Given the description of an element on the screen output the (x, y) to click on. 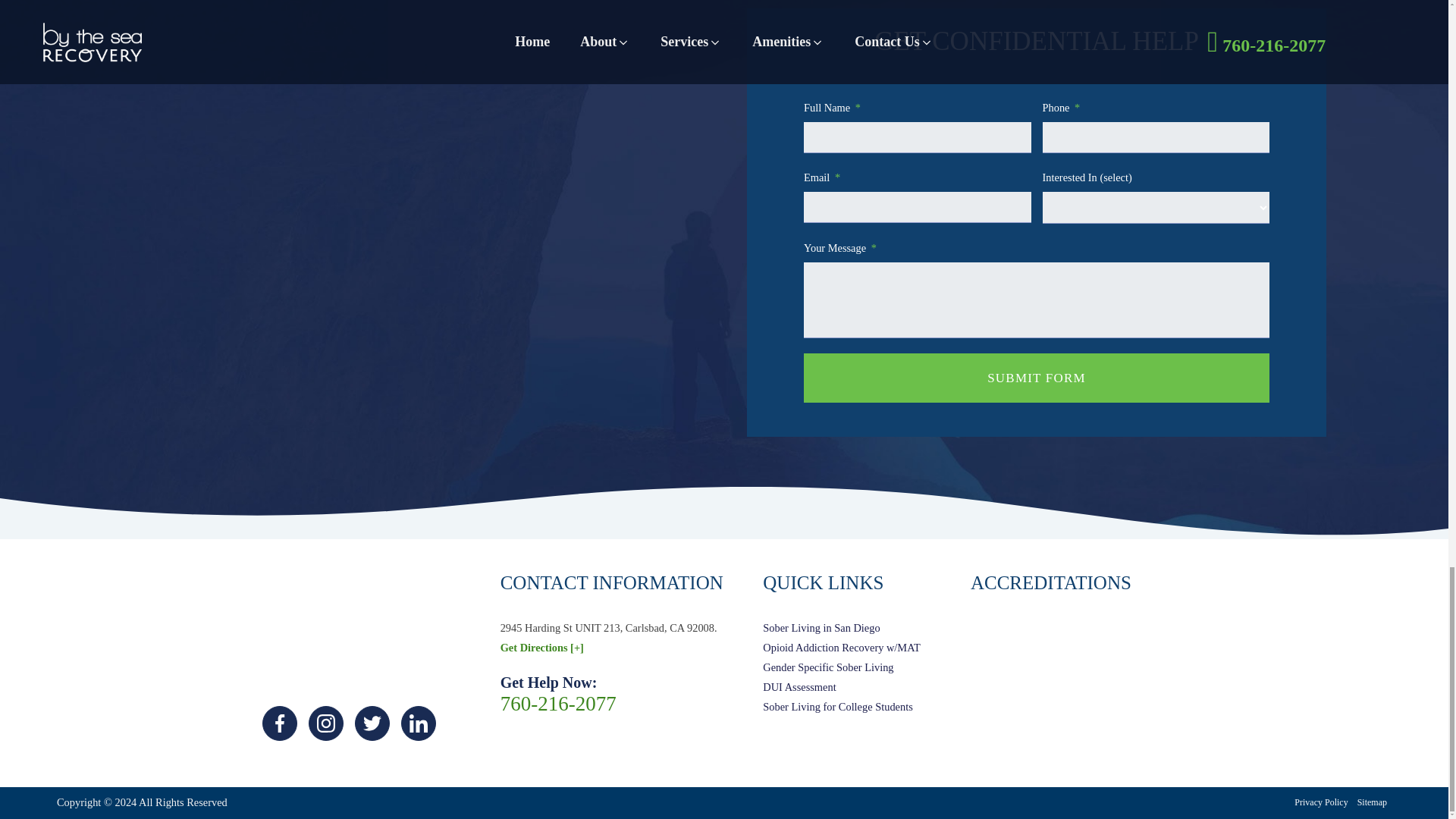
Sober Living for College Students (841, 707)
SUBMIT FORM (1036, 377)
DUI Assessment (841, 687)
Gender Specific Sober Living (841, 668)
Sober Living in San Diego (841, 628)
